Given the description of an element on the screen output the (x, y) to click on. 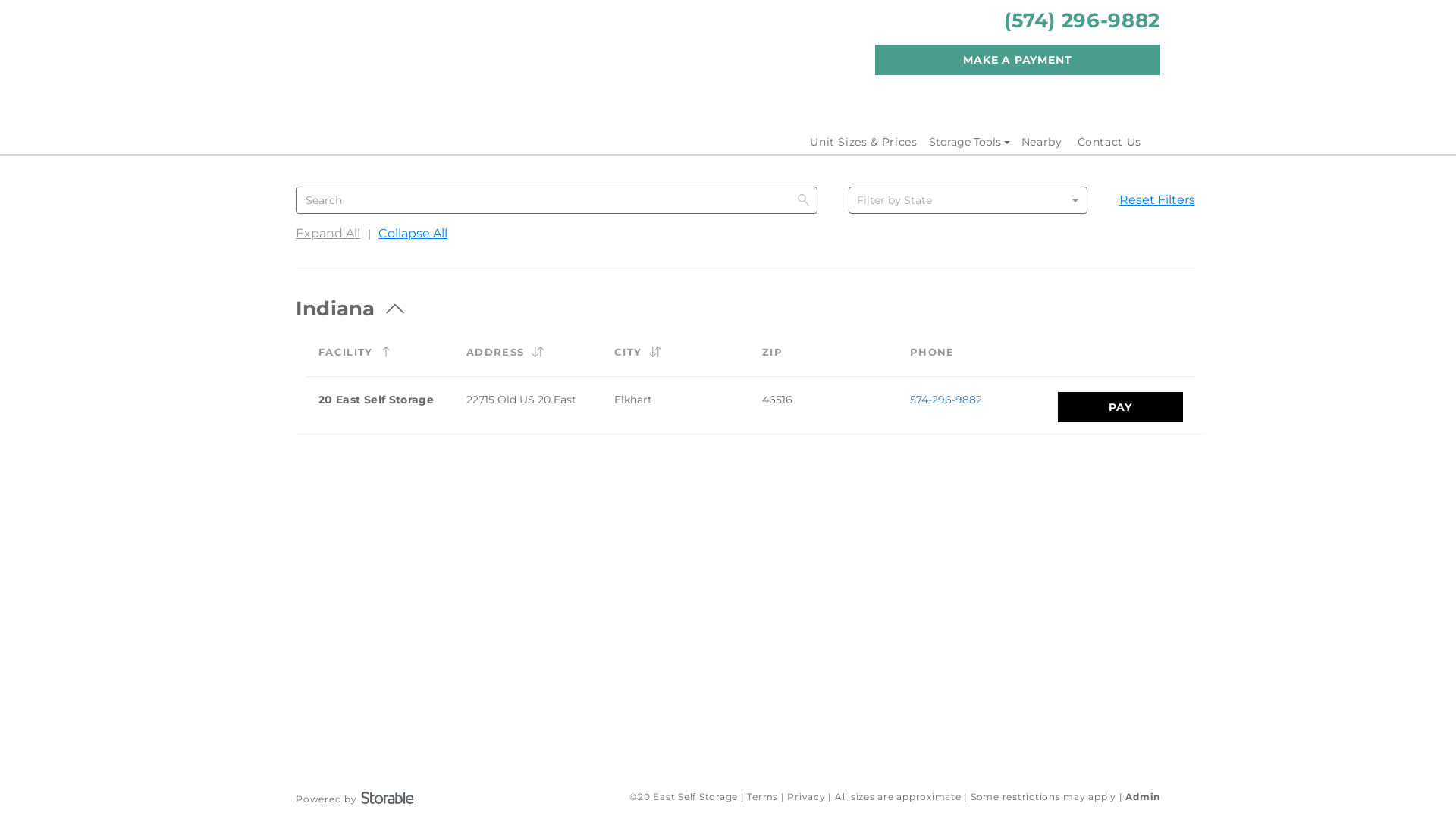
Unit Sizes & Prices Element type: text (862, 141)
Admin Element type: text (1142, 796)
Powered by Element type: text (354, 796)
Indiana Element type: text (349, 305)
MAKE A PAYMENT Element type: text (1017, 59)
Privacy Element type: text (806, 796)
(574) 296-9882 Element type: text (1082, 20)
Reset Filters Element type: text (1157, 199)
Expand All Element type: text (327, 238)
Contact Us Element type: text (1108, 141)
PAY Element type: text (1120, 407)
Nearby Element type: text (1041, 141)
574-296-9882 Element type: text (946, 399)
Terms Element type: text (762, 796)
Storage Tools Element type: text (969, 141)
Collapse All Element type: text (412, 238)
